Given the description of an element on the screen output the (x, y) to click on. 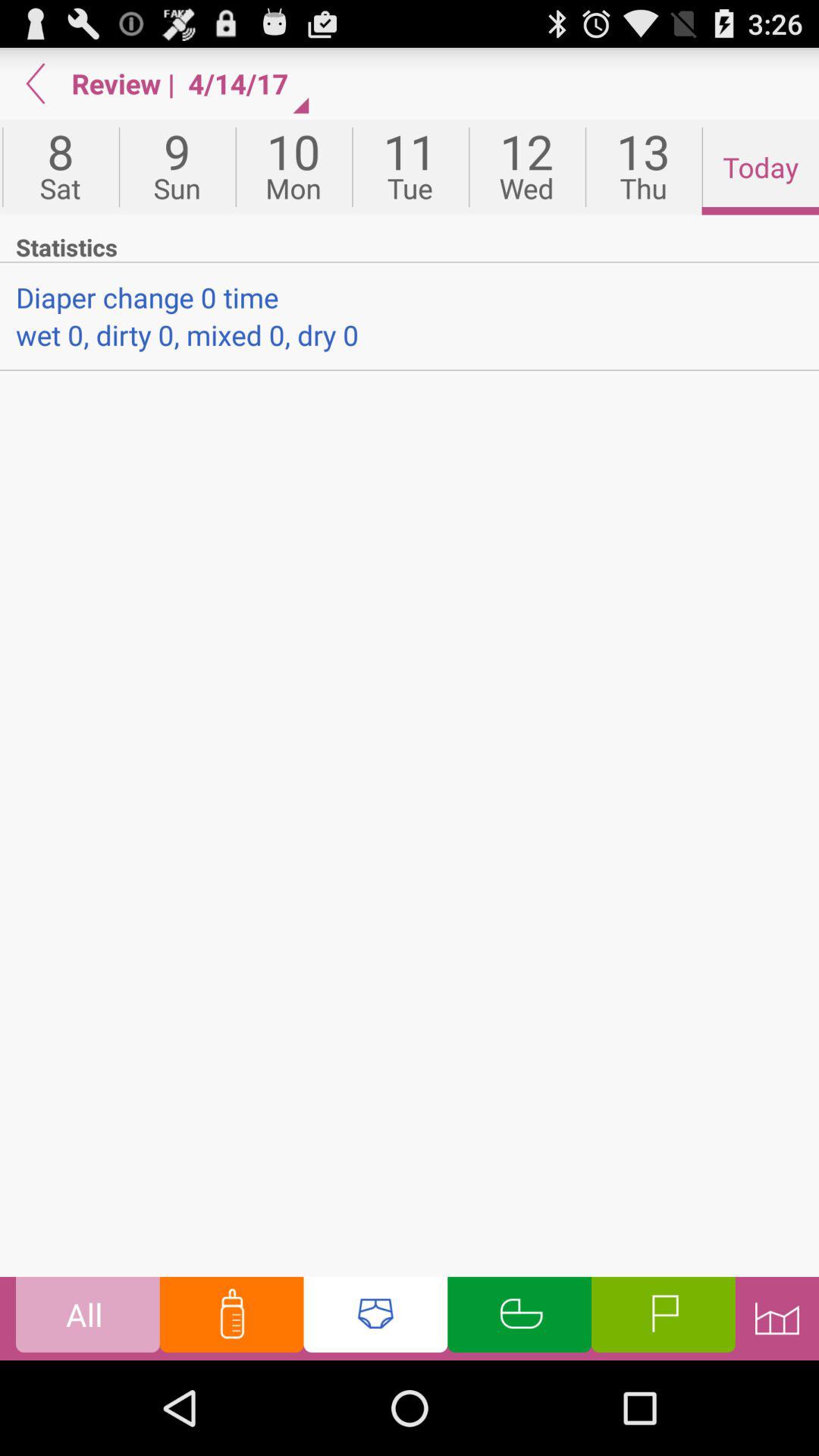
schedule diaper change (375, 1318)
